Given the description of an element on the screen output the (x, y) to click on. 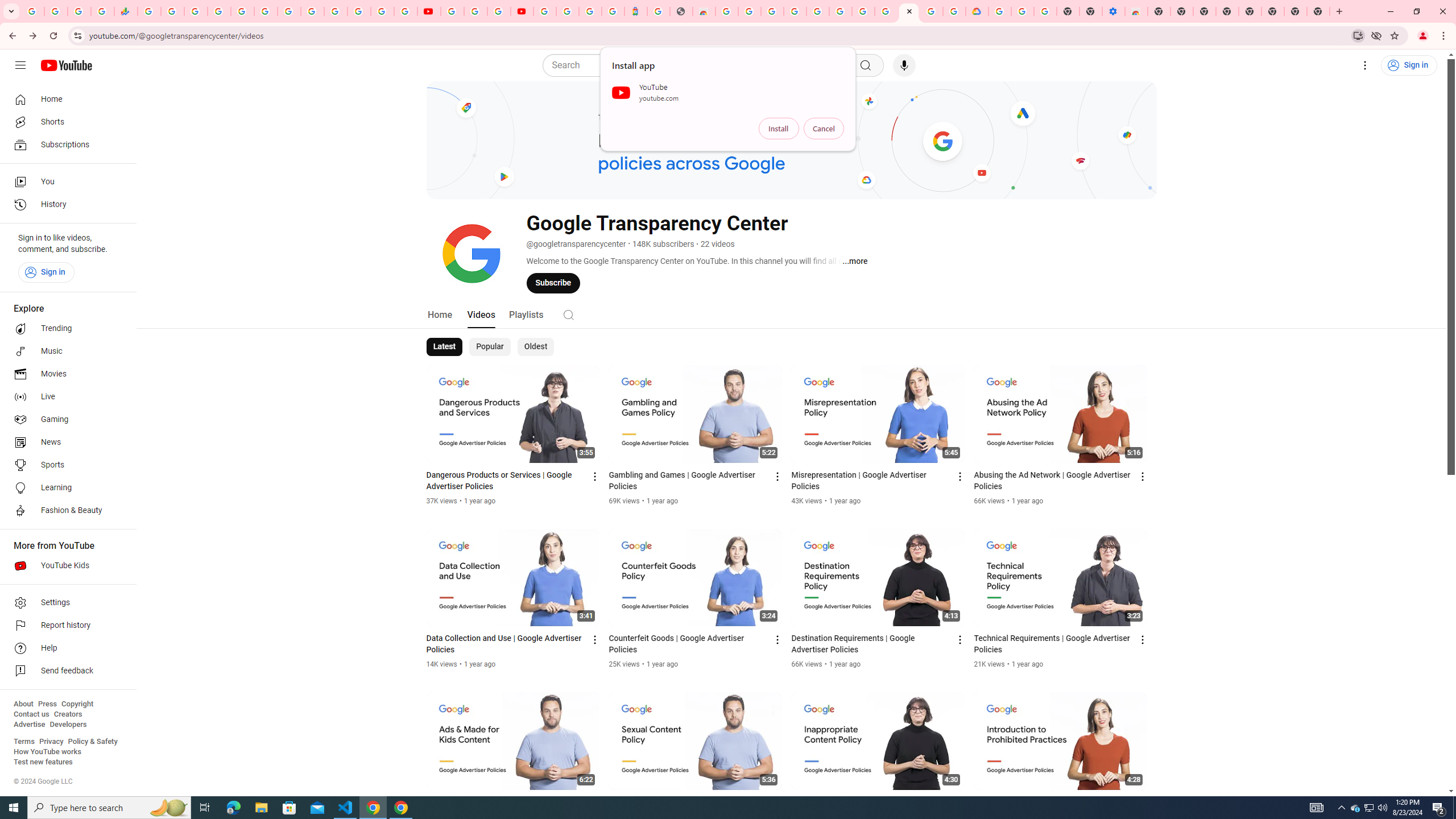
Popular (489, 346)
Fashion & Beauty (64, 510)
Music (64, 350)
Home (64, 99)
Create your Google Account (931, 11)
Playlists (525, 314)
Ad Settings (794, 11)
Privacy (51, 741)
